Given the description of an element on the screen output the (x, y) to click on. 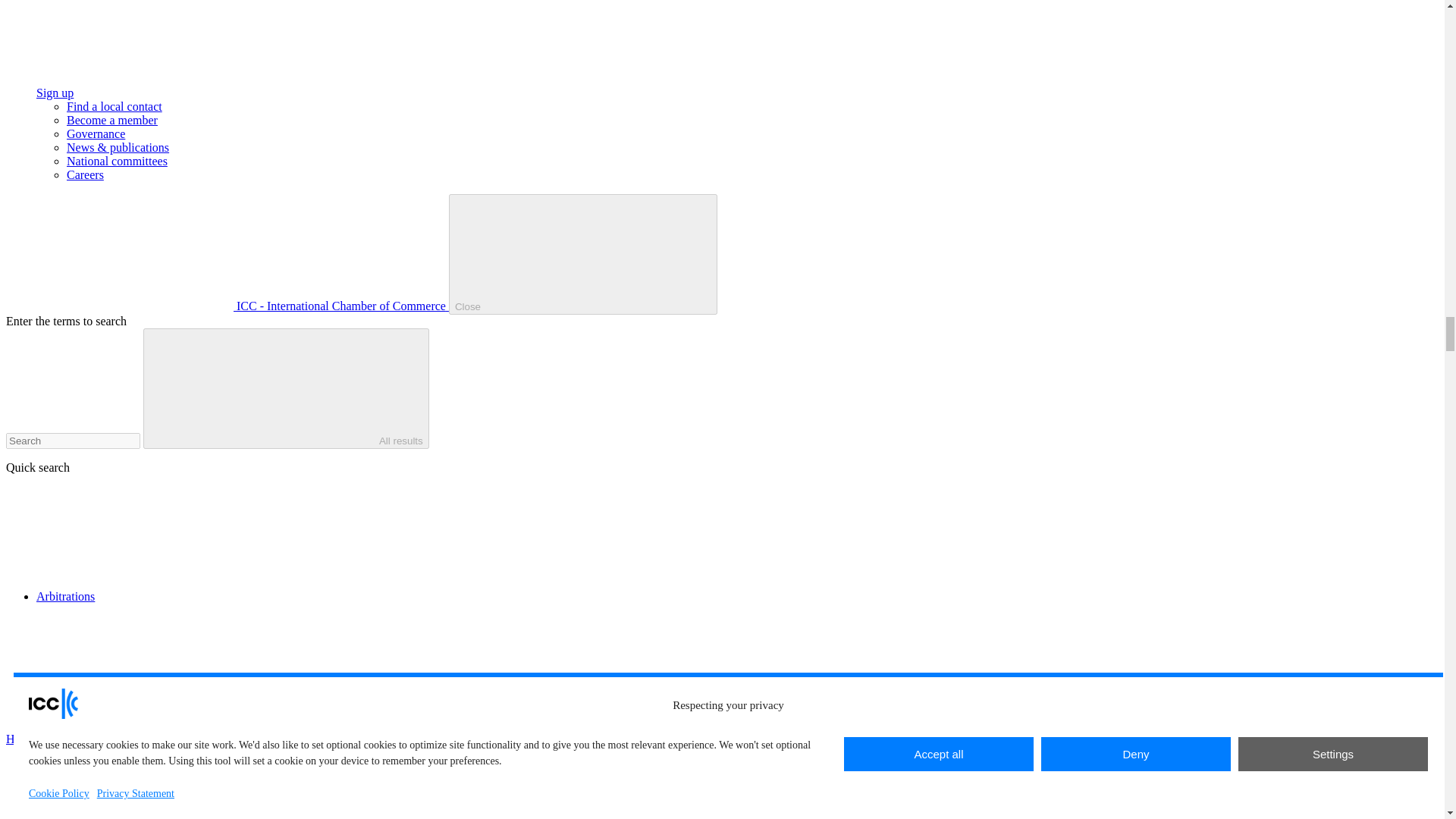
Search (72, 440)
